Given the description of an element on the screen output the (x, y) to click on. 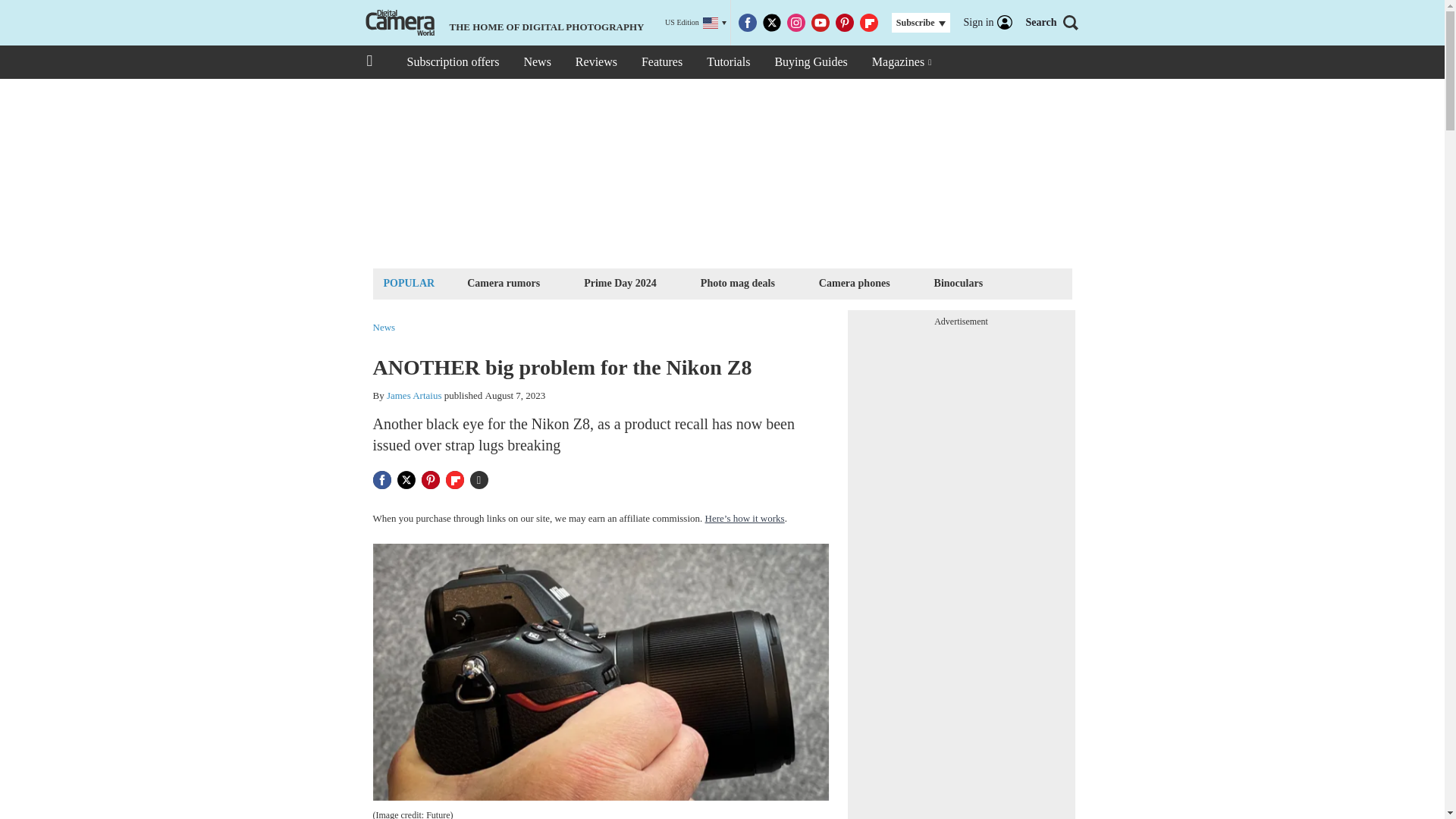
News (536, 61)
Binoculars (958, 282)
US Edition (695, 22)
Subscription offers (452, 61)
Camera phones (854, 282)
Reviews (595, 61)
Buying Guides (810, 61)
Camera rumors (502, 282)
Photo mag deals (737, 282)
Prime Day 2024 (620, 282)
THE HOME OF DIGITAL PHOTOGRAPHY (503, 22)
